Given the description of an element on the screen output the (x, y) to click on. 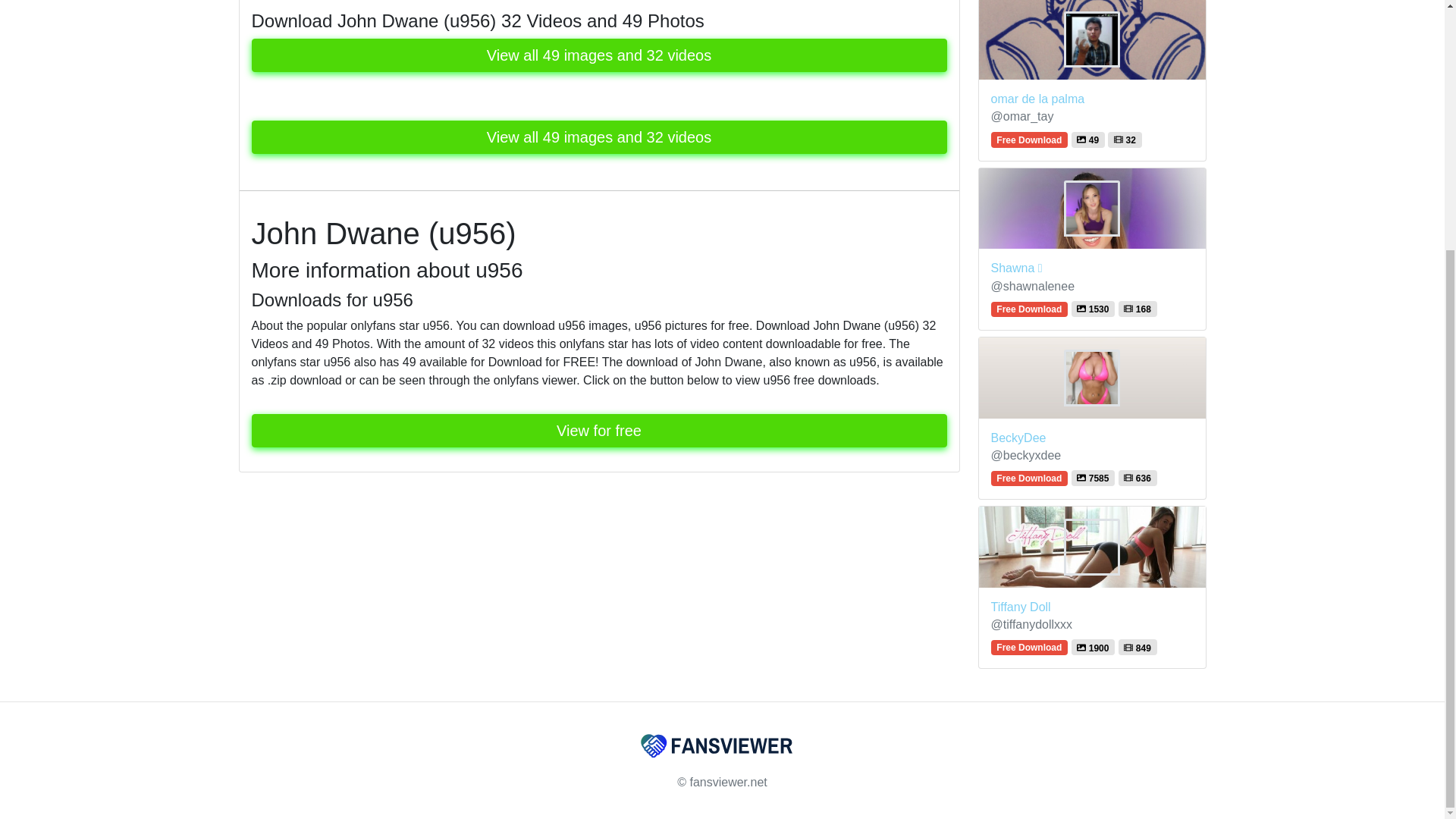
View for free (599, 430)
View all 49 images and 32 videos (599, 55)
View all 49 images and 32 videos (599, 136)
